Given the description of an element on the screen output the (x, y) to click on. 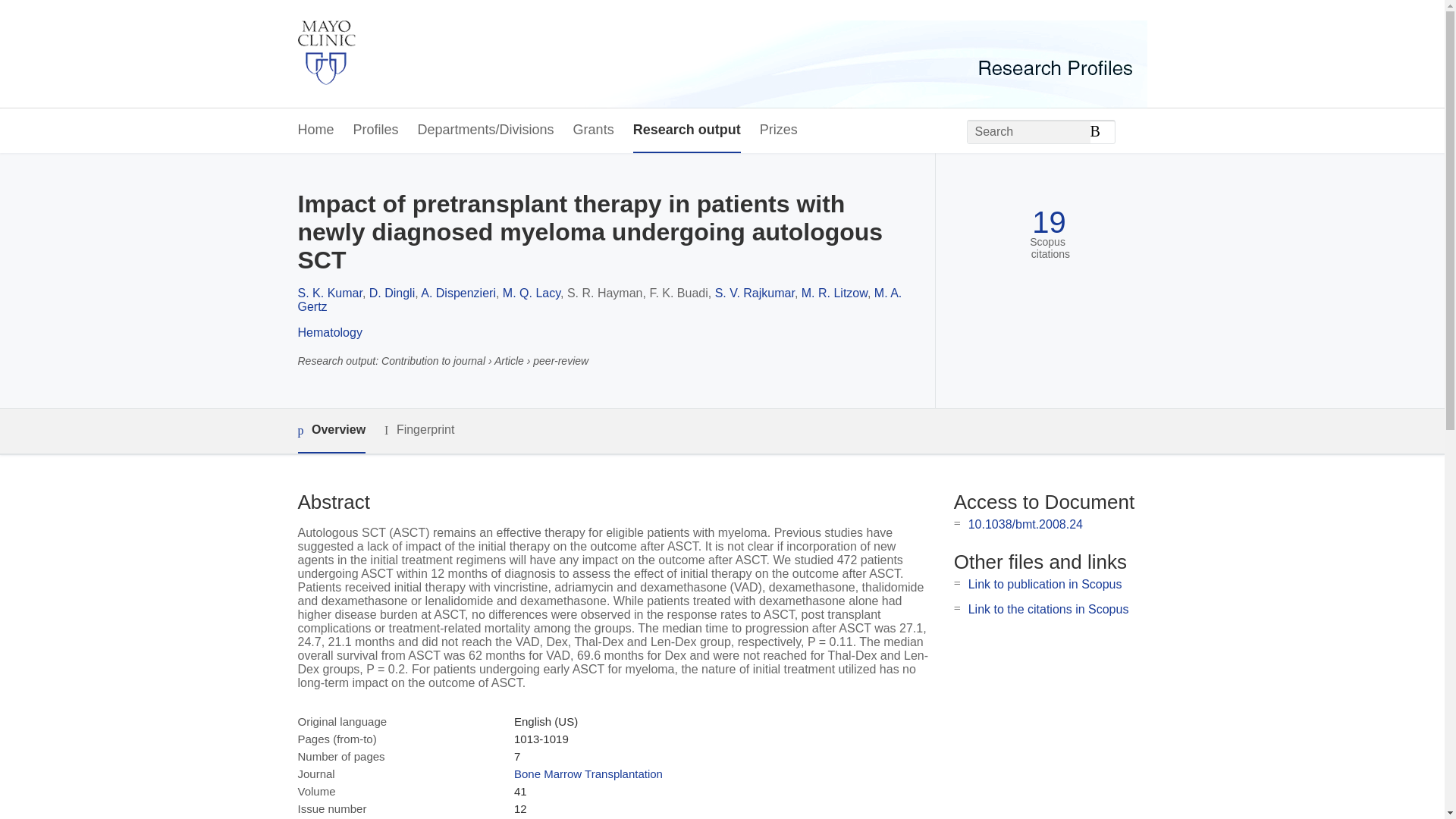
19 (1048, 222)
Fingerprint (419, 430)
Hematology (329, 332)
A. Dispenzieri (458, 292)
Home (315, 130)
M. R. Litzow (834, 292)
M. Q. Lacy (531, 292)
Overview (331, 430)
D. Dingli (391, 292)
Grants (593, 130)
S. K. Kumar (329, 292)
Mayo Clinic Home (326, 53)
Profiles (375, 130)
Link to publication in Scopus (1045, 584)
